Given the description of an element on the screen output the (x, y) to click on. 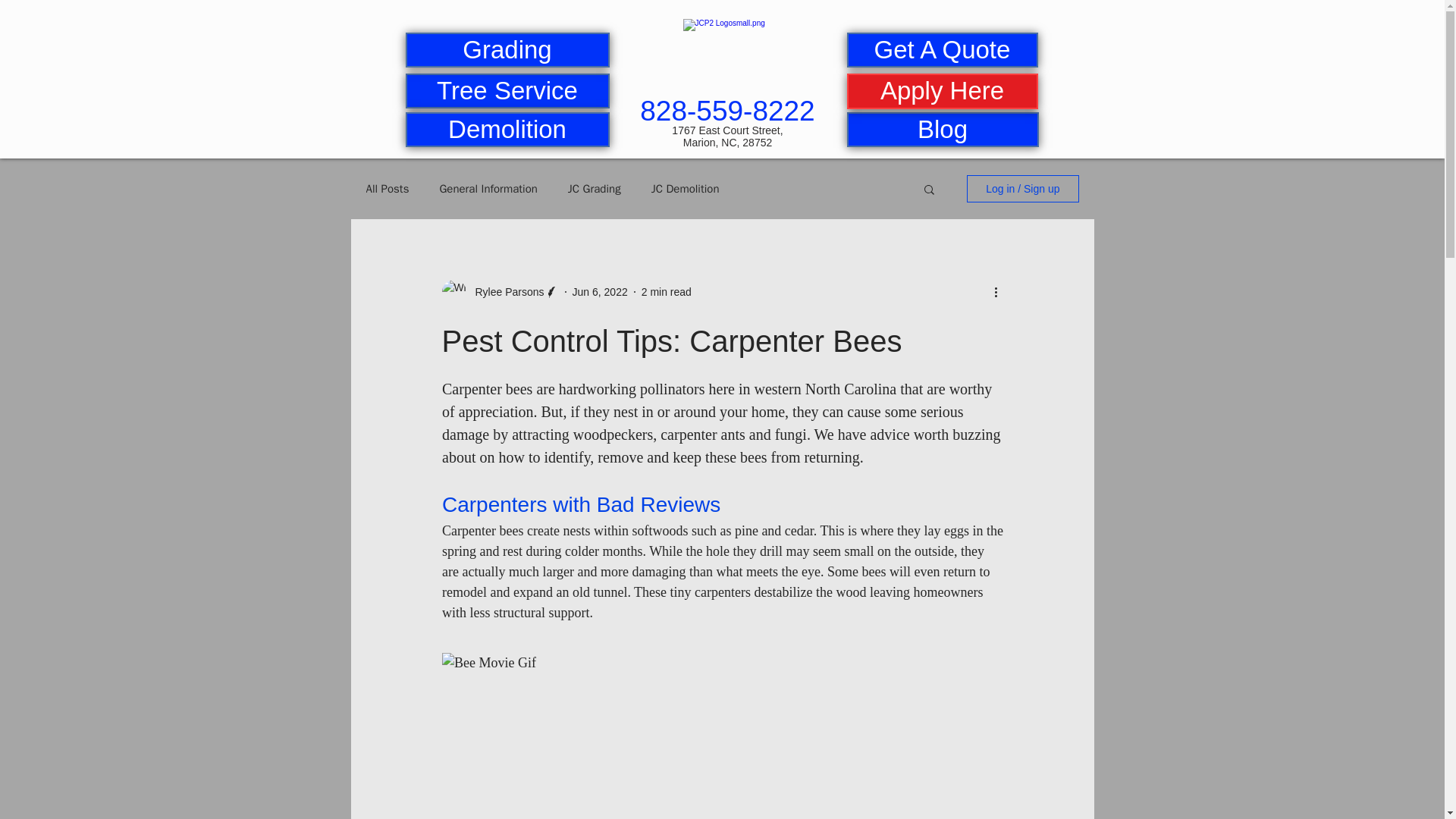
All Posts (387, 188)
Get A Quote (940, 49)
Rylee Parsons (504, 291)
General Information (488, 188)
JC Grading (594, 188)
Blog (941, 129)
Apply Here (940, 90)
Demolition (506, 129)
Grading (506, 49)
2 min read (666, 291)
